Given the description of an element on the screen output the (x, y) to click on. 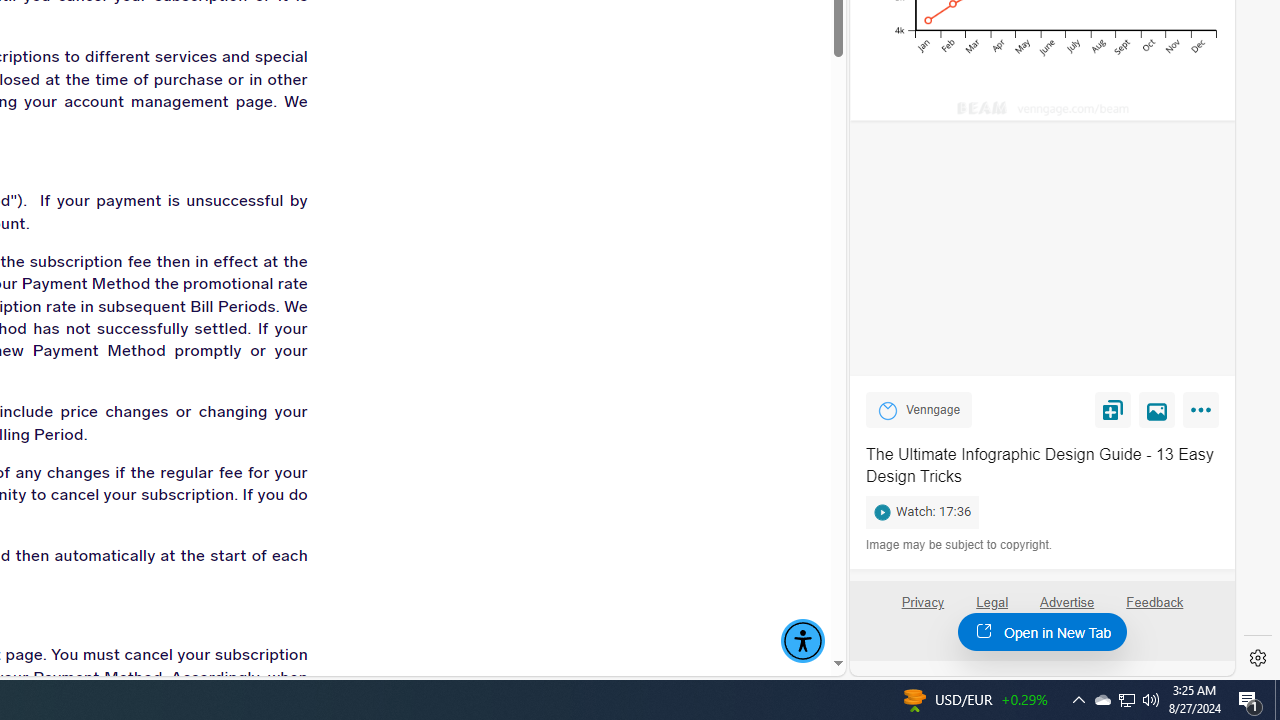
Accessibility Menu (802, 641)
Open in New Tab (1042, 631)
